Given the description of an element on the screen output the (x, y) to click on. 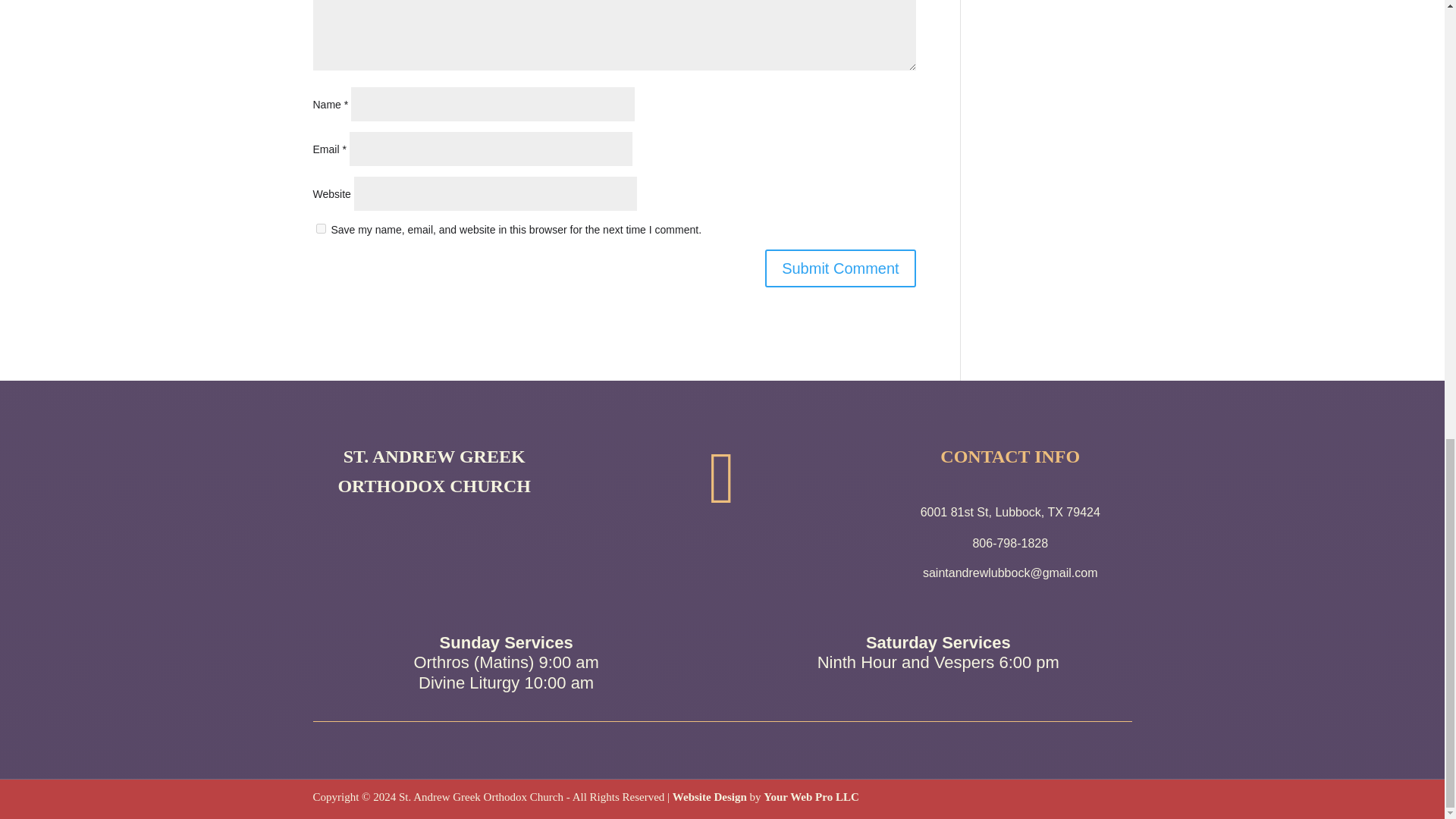
yes (319, 228)
Your Web Pro LLC (810, 797)
Submit Comment (840, 268)
806-798-1828 (1010, 543)
Website Design (709, 797)
Submit Comment (840, 268)
